Given the description of an element on the screen output the (x, y) to click on. 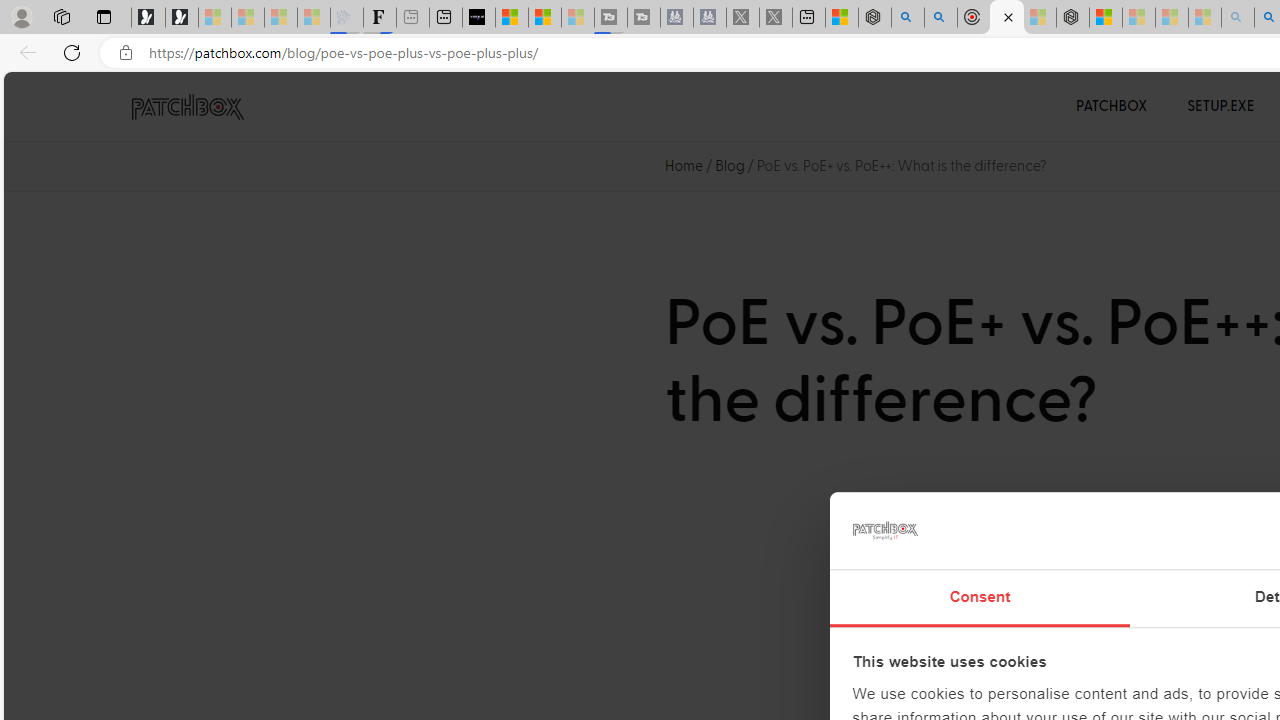
SETUP.EXE (1220, 106)
Consent (979, 598)
PATCHBOX (1111, 106)
